Given the description of an element on the screen output the (x, y) to click on. 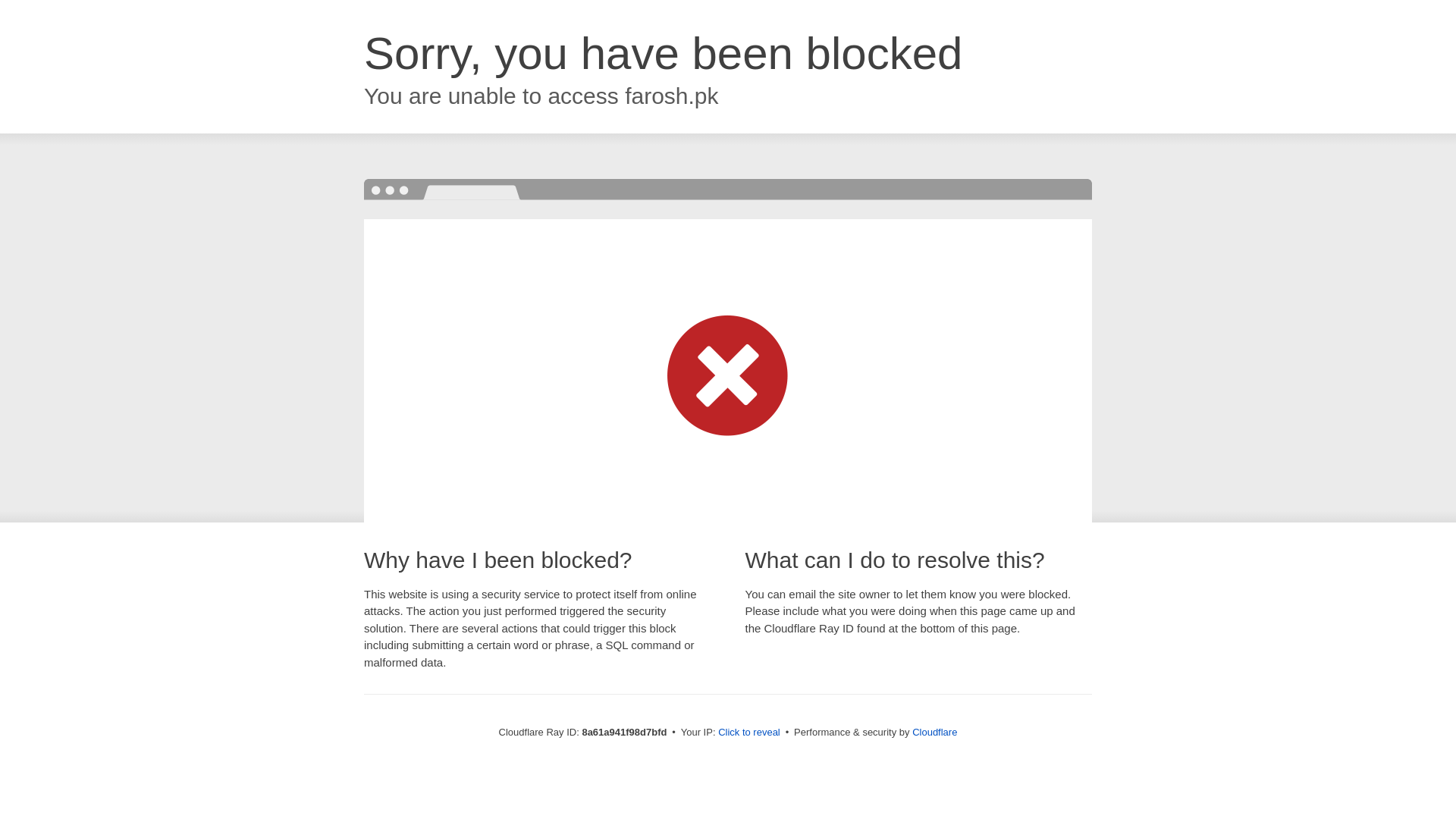
Click to reveal (748, 732)
Cloudflare (934, 731)
